Given the description of an element on the screen output the (x, y) to click on. 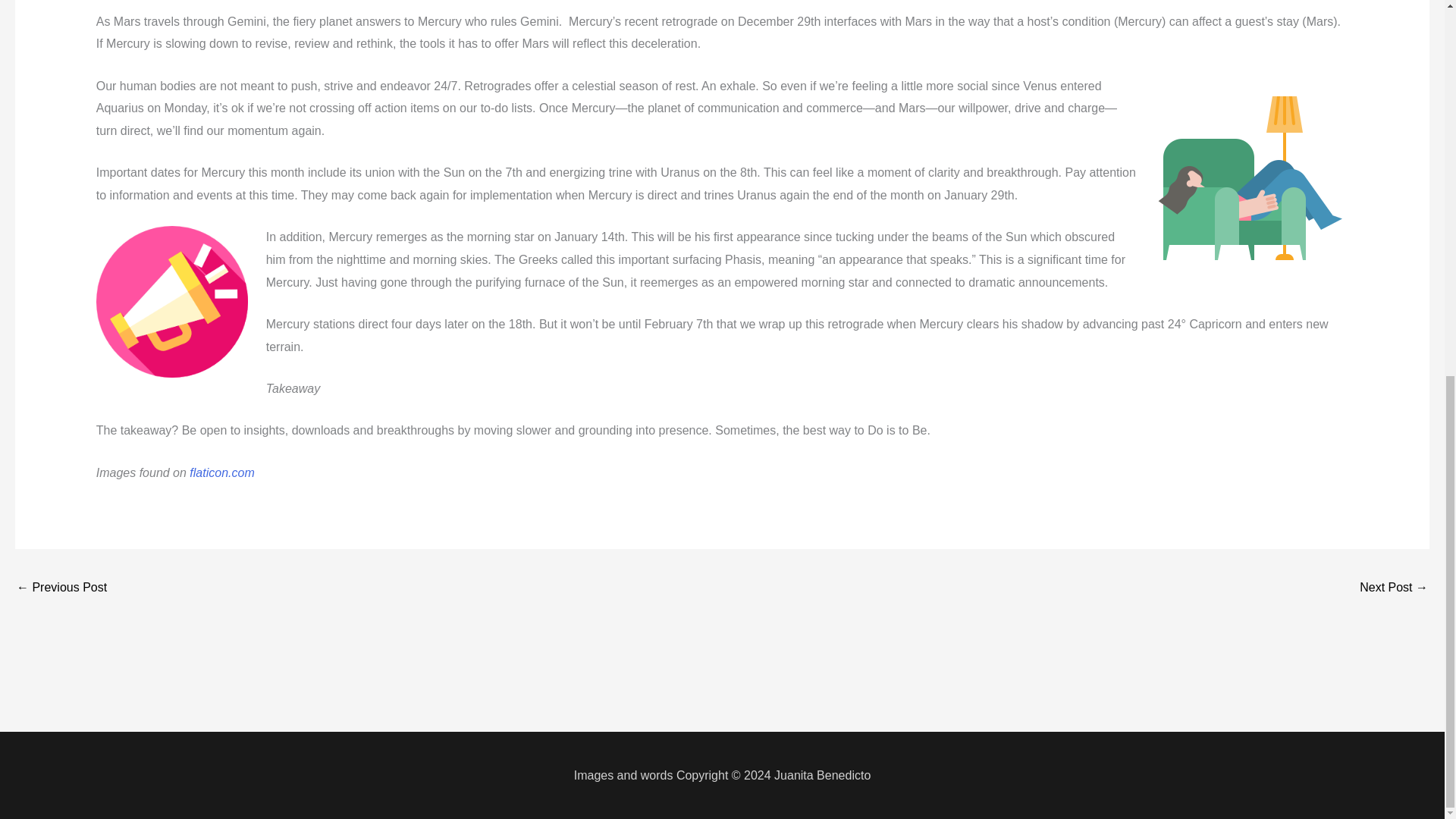
flaticon.com (221, 472)
New Moon in Capricorn :: Quiet friend who has come so far... (61, 588)
